Given the description of an element on the screen output the (x, y) to click on. 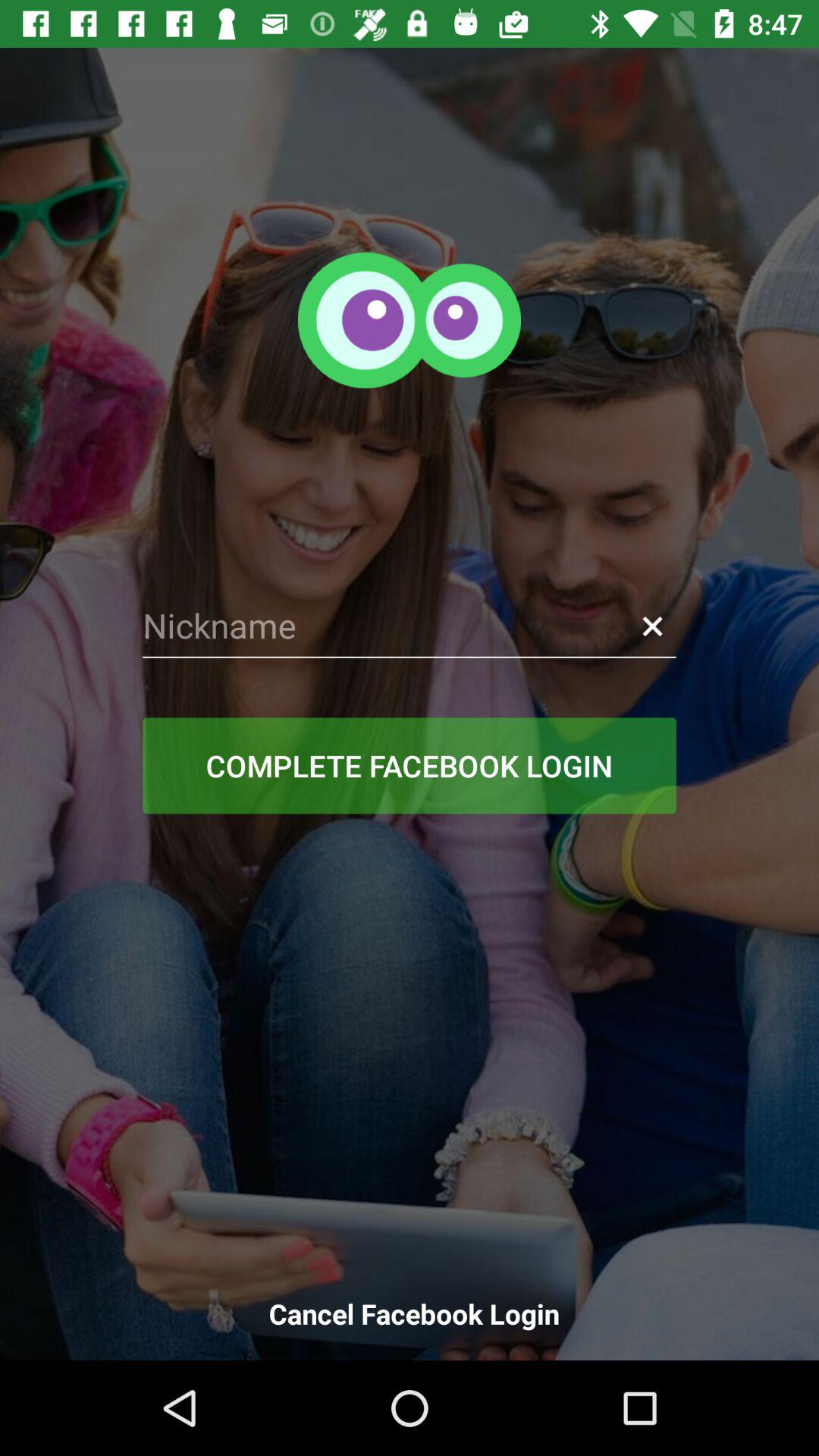
bet name (409, 626)
